Given the description of an element on the screen output the (x, y) to click on. 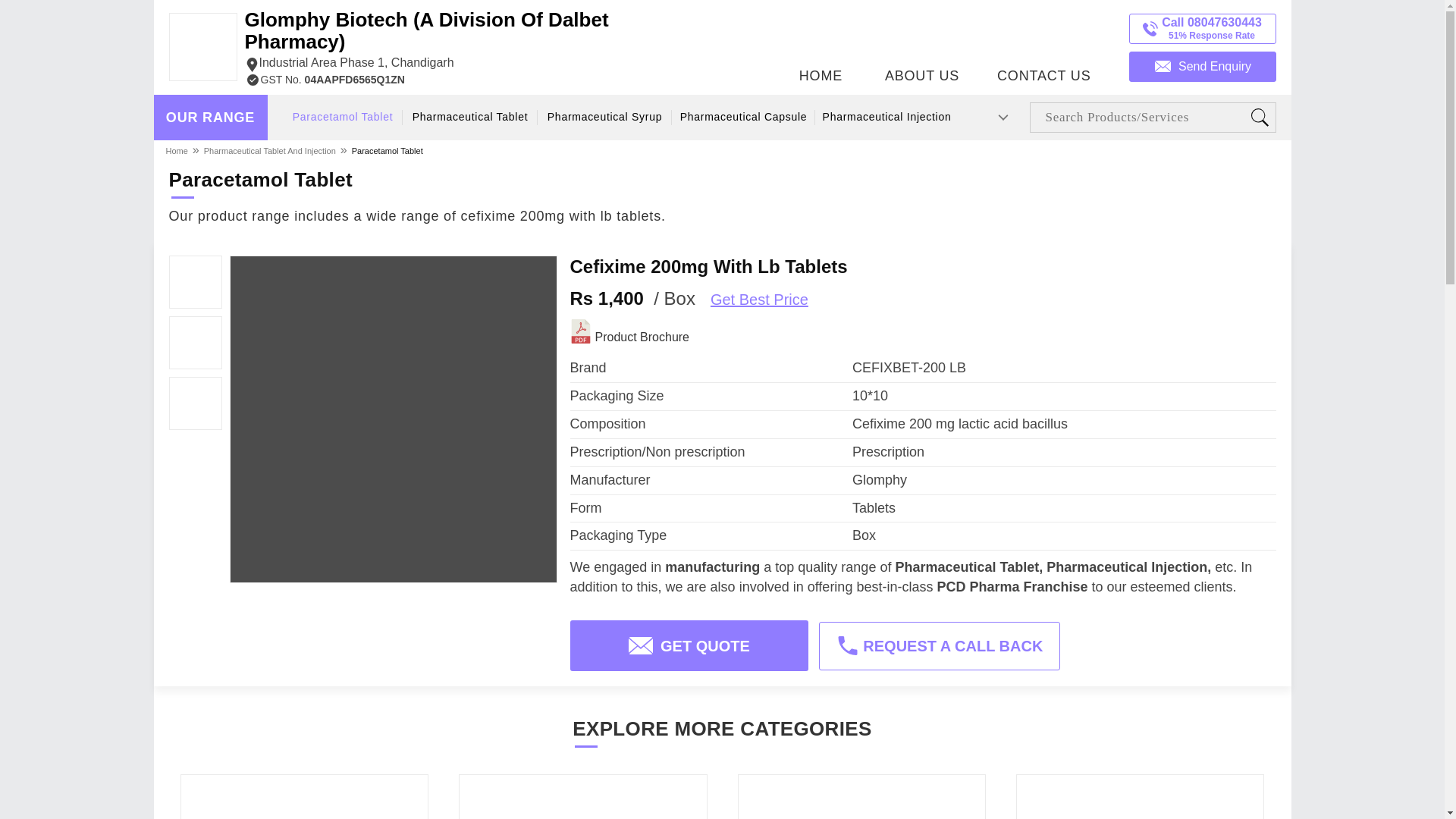
Pharmaceutical Tablet And Injection (269, 150)
Paracetamol Tablet (343, 117)
Pharmaceutical Capsule (742, 117)
Pharmaceutical Syrup (604, 117)
OUR RANGE (209, 117)
Paracetamol Tablet (386, 150)
ABOUT US (921, 43)
CONTACT US (1043, 43)
Pharmaceutical Tablet (470, 117)
Pharmaceutical Injection (886, 117)
HOME (821, 43)
Home (176, 150)
